Given the description of an element on the screen output the (x, y) to click on. 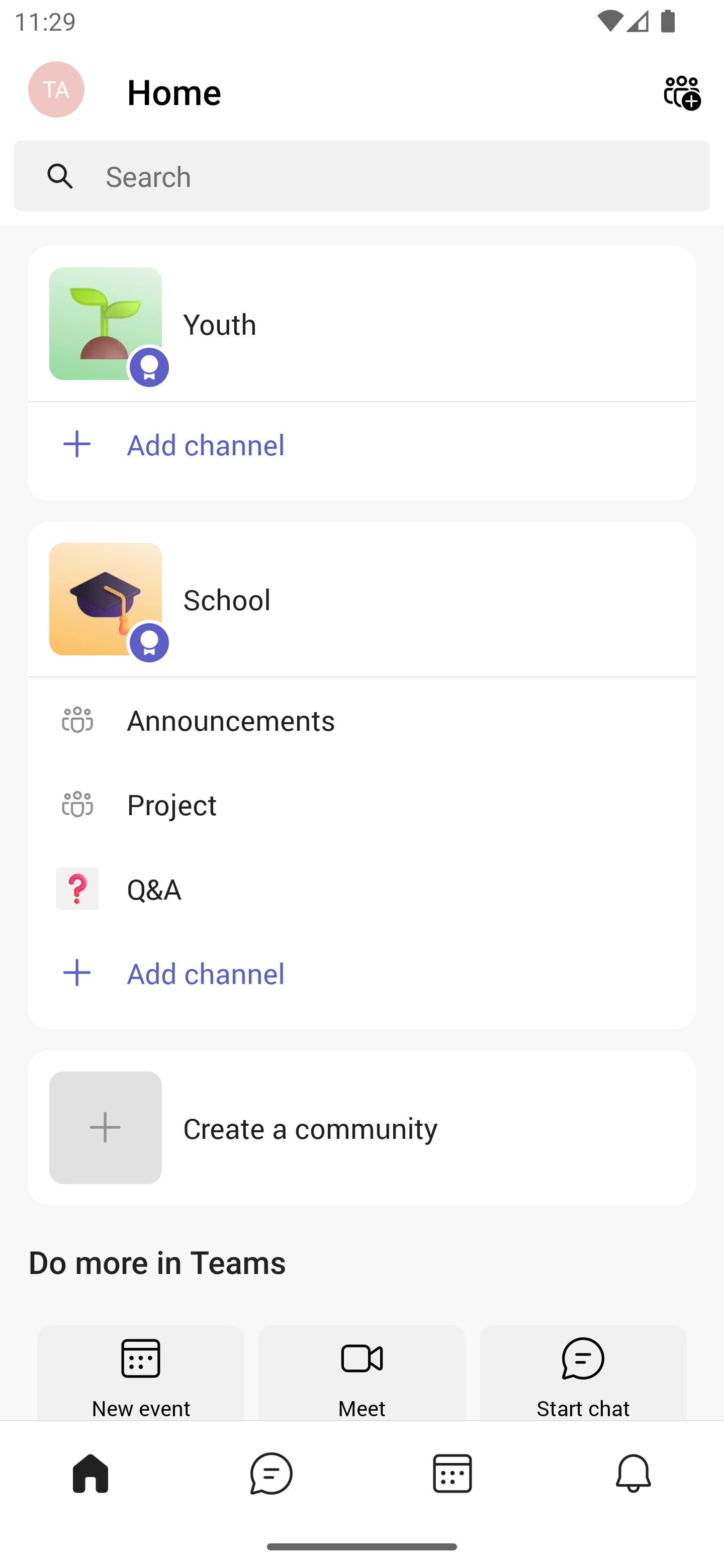
Create new community (681, 90)
Navigation (58, 91)
Search (407, 176)
Youth Community. Youth (361, 323)
Add a new channel to Youth community Add channel (361, 450)
School Community. School (361, 599)
Announcements Channel. Announcements (361, 719)
Project Channel. Project (361, 804)
Q&A Channel. Q&A (361, 888)
Add a new channel to School community Add channel (361, 979)
Create a community (361, 1127)
New event (140, 1372)
Meet (361, 1372)
Start chat (582, 1372)
Home tab, 1 of 4 (89, 1472)
Chat tab,2 of 4, not selected (270, 1472)
Calendar tab,3 of 4, not selected (451, 1472)
Activity tab,4 of 4, not selected (632, 1472)
